Given the description of an element on the screen output the (x, y) to click on. 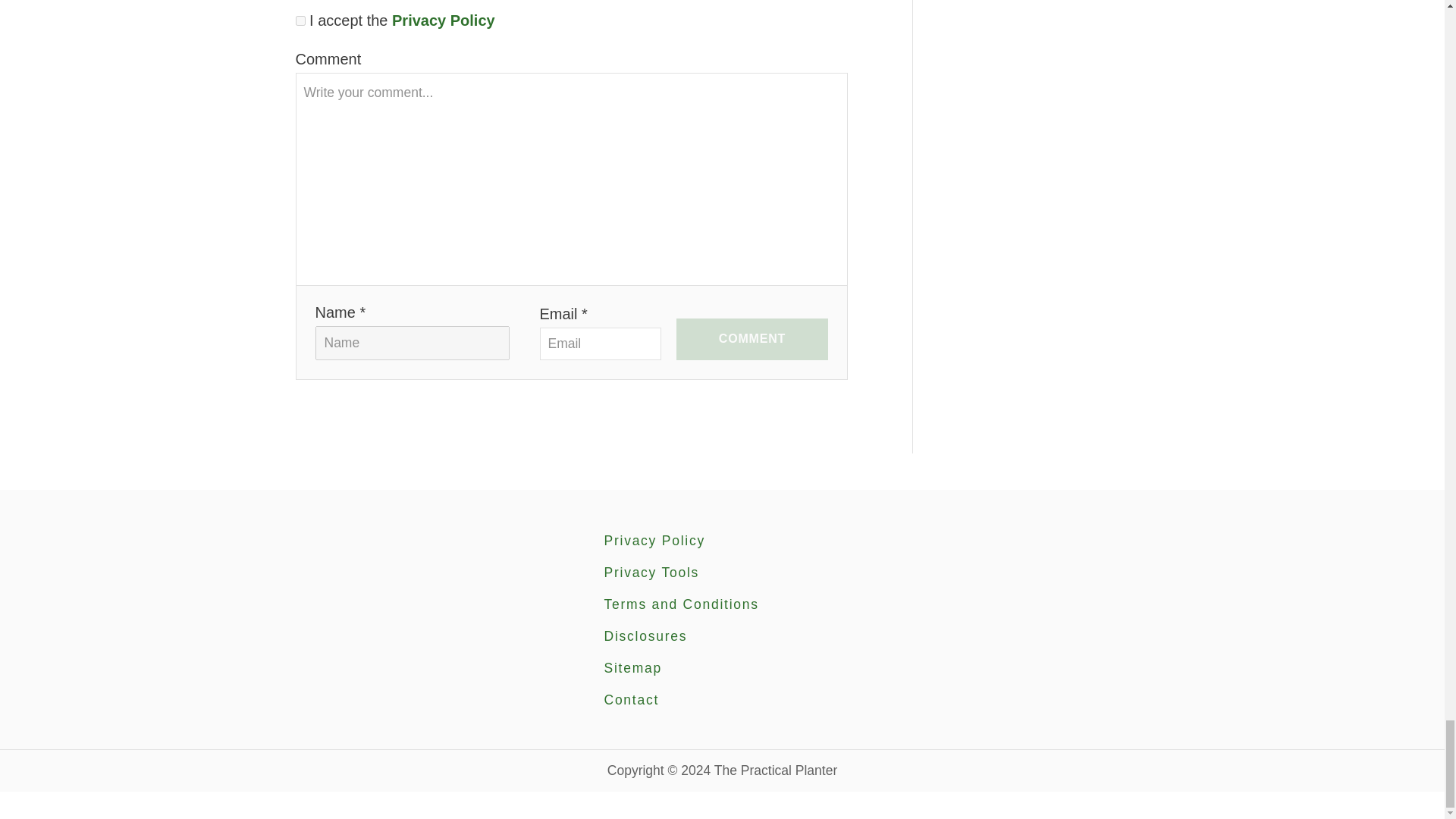
1 (300, 20)
